Given the description of an element on the screen output the (x, y) to click on. 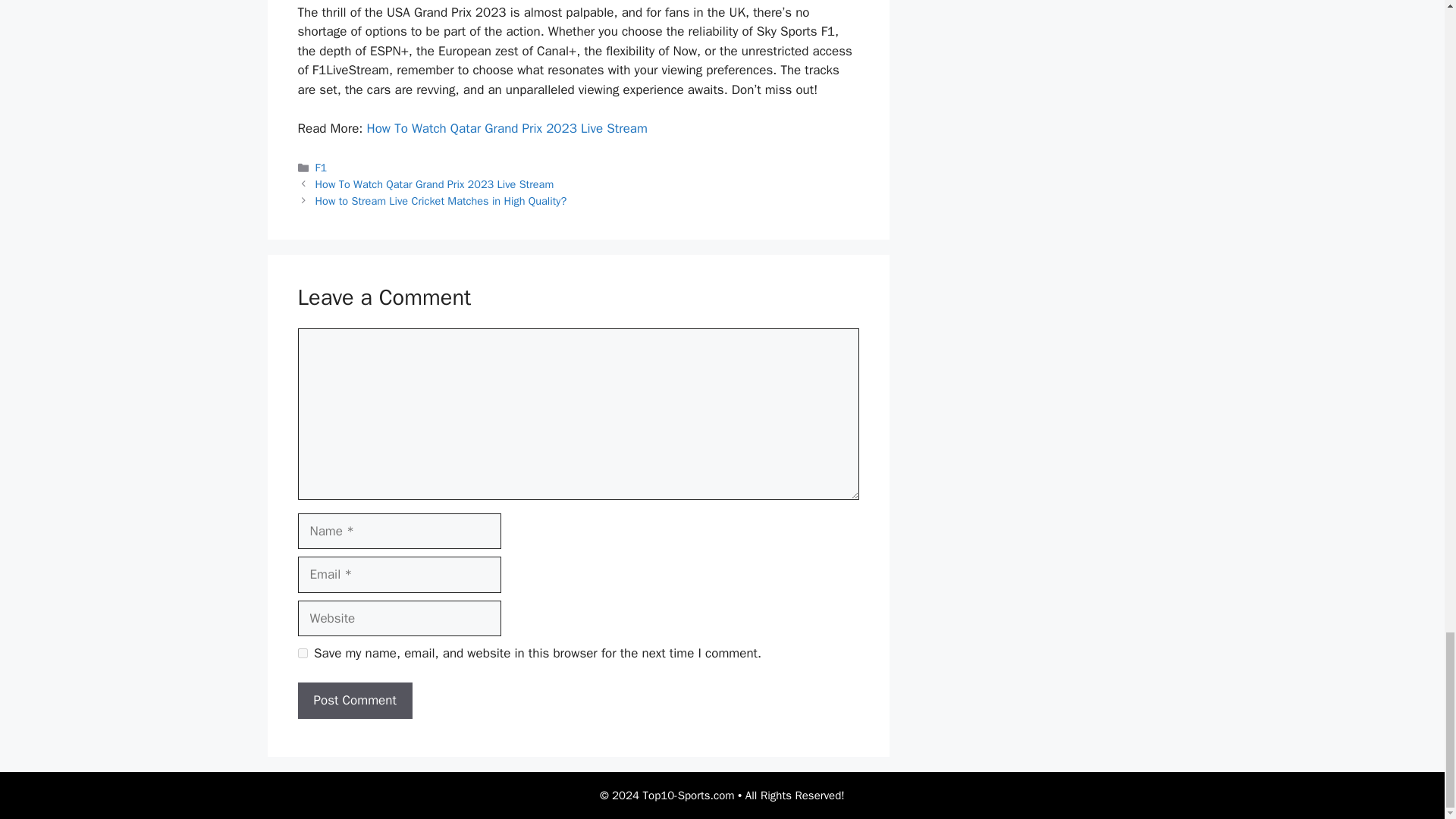
yes (302, 653)
How To Watch Qatar Grand Prix 2023 Live Stream (434, 183)
F1 (321, 167)
Post Comment (354, 700)
Post Comment (354, 700)
How to Stream Live Cricket Matches in High Quality? (441, 201)
How To Watch Qatar Grand Prix 2023 Live Stream (506, 128)
